Given the description of an element on the screen output the (x, y) to click on. 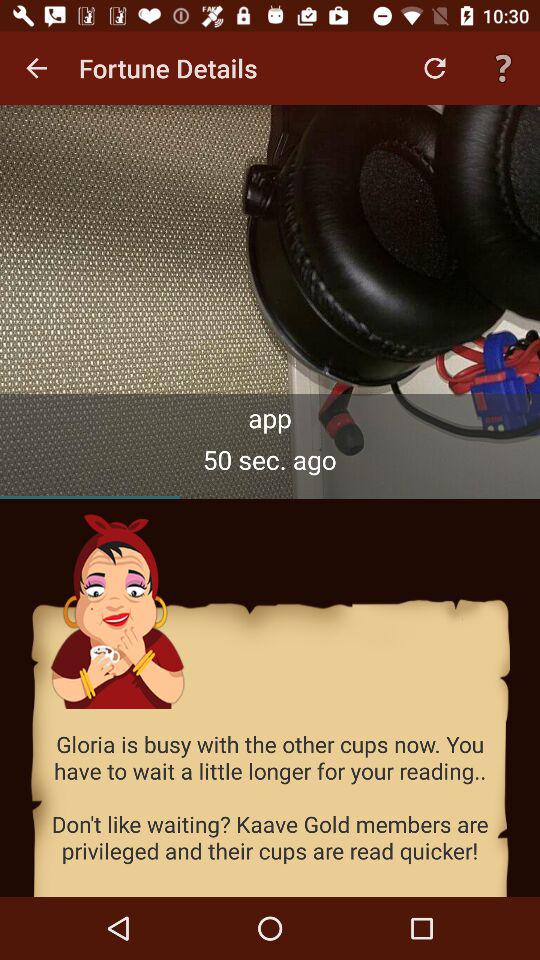
turn on the app to the left of the fortune details app (36, 68)
